Given the description of an element on the screen output the (x, y) to click on. 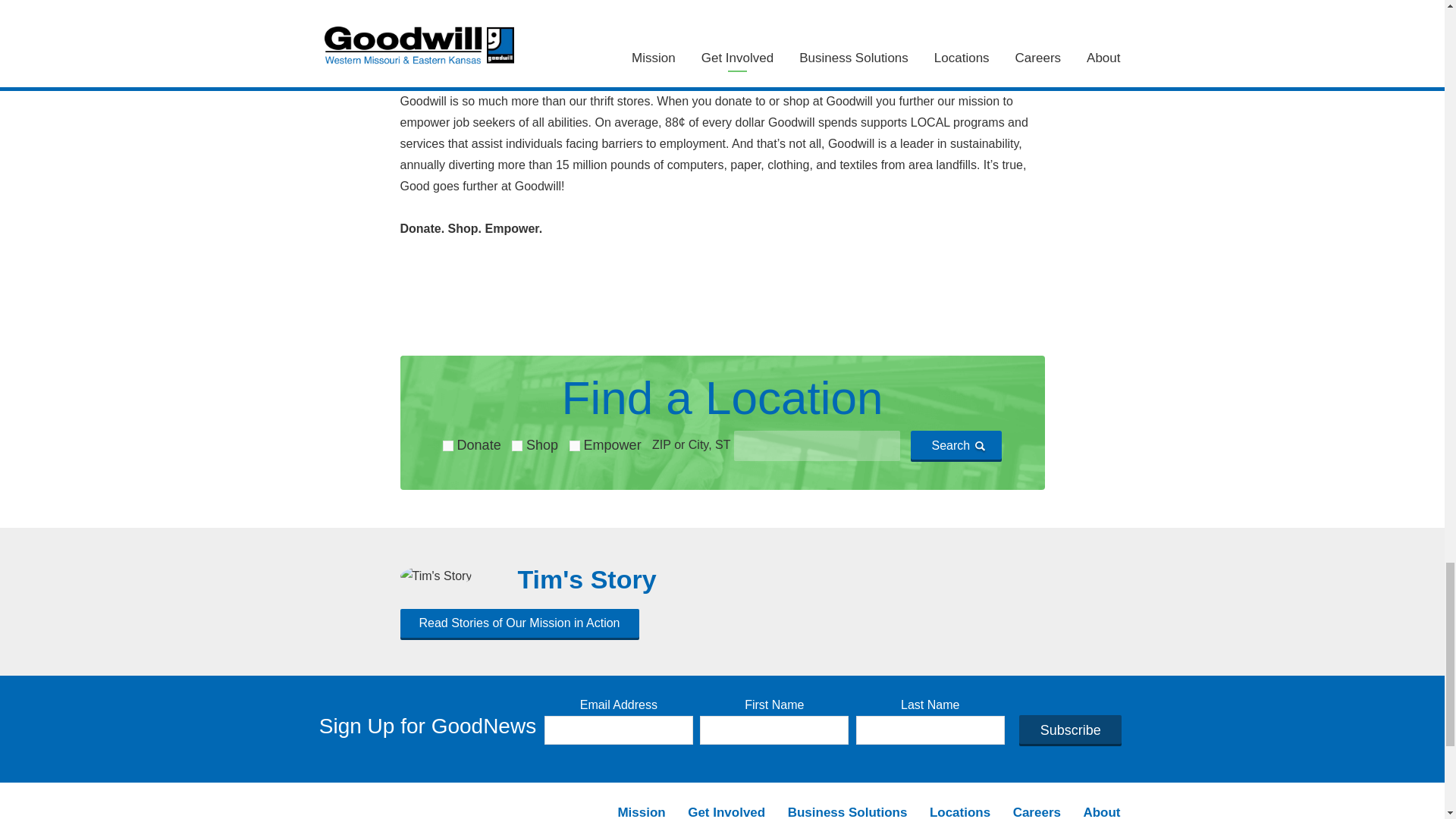
Subscribe (1070, 728)
Search (956, 444)
